Given the description of an element on the screen output the (x, y) to click on. 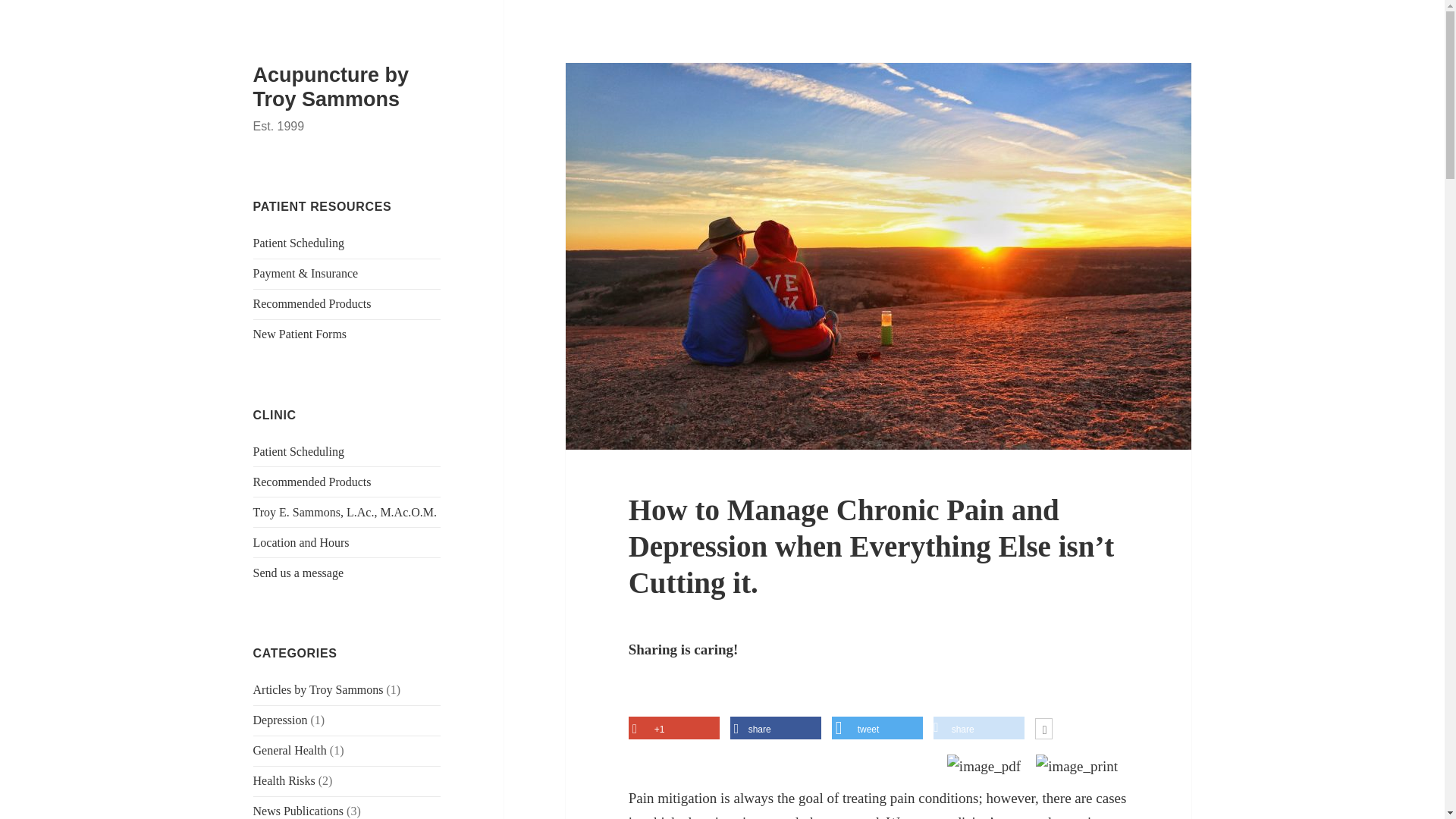
Send us a message (298, 572)
New Patient Forms (300, 333)
News Publications (298, 810)
Share on Reddit (979, 729)
Print Content (1076, 766)
Location and Hours (301, 542)
Acupuncture by Troy Sammons (331, 86)
share (979, 729)
Share on Twitter (877, 729)
Patient Scheduling (298, 242)
Articles by Troy Sammons (318, 689)
Troy E. Sammons, L.Ac., M.Ac.O.M. (345, 512)
Share on Facebook (775, 729)
Recommended Products (312, 481)
Patient Scheduling (298, 451)
